Given the description of an element on the screen output the (x, y) to click on. 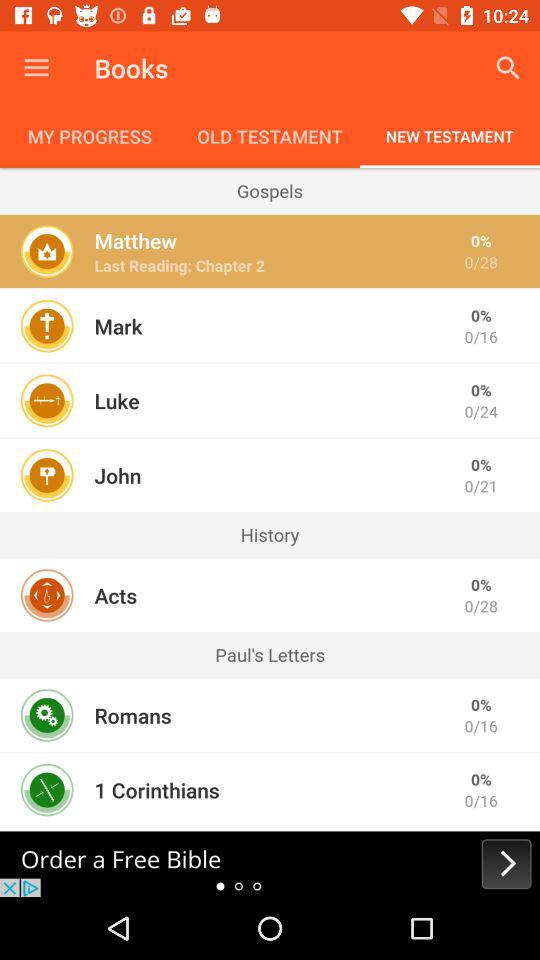
swipe until john item (117, 475)
